Given the description of an element on the screen output the (x, y) to click on. 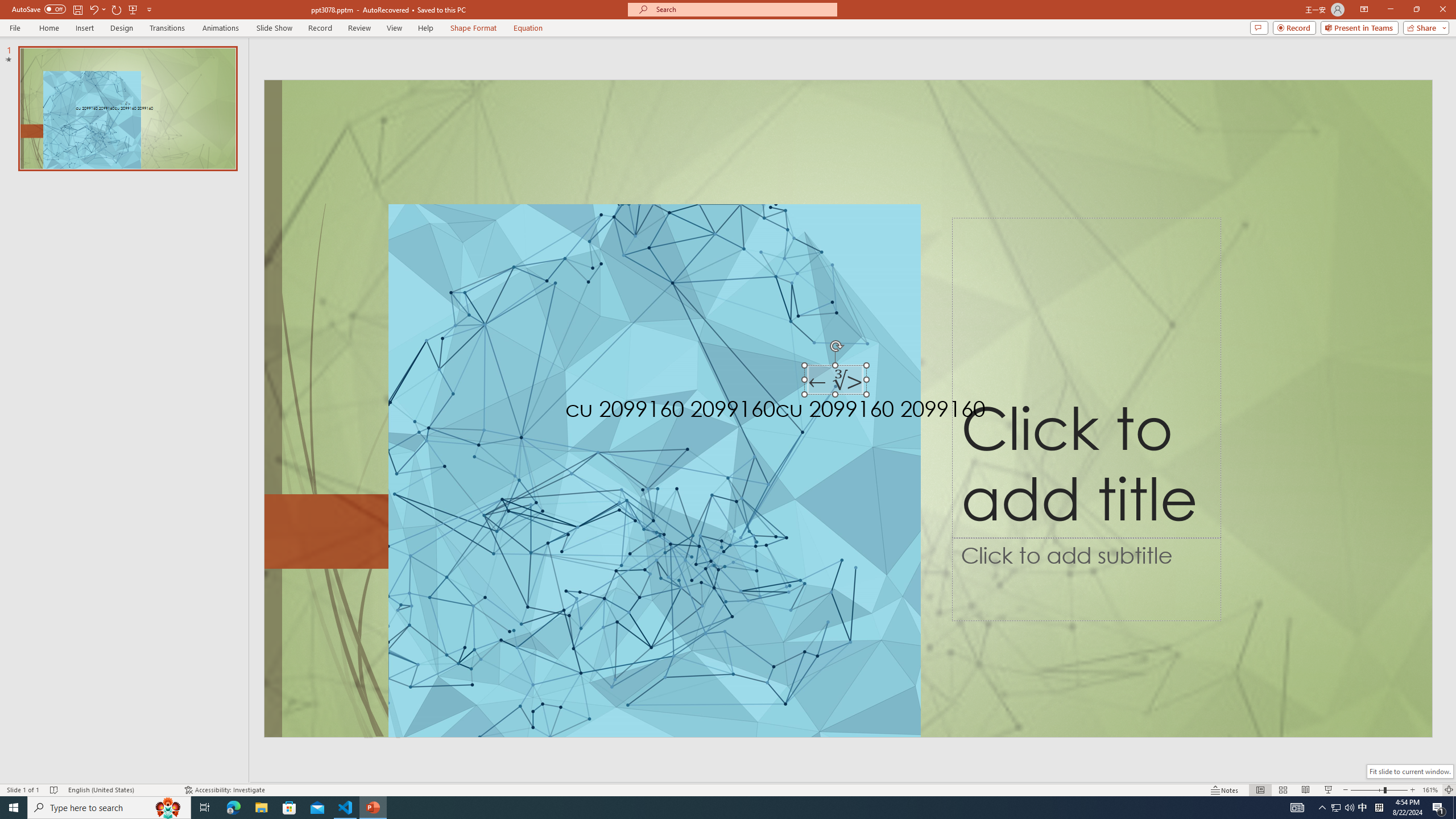
Equation (528, 28)
